Given the description of an element on the screen output the (x, y) to click on. 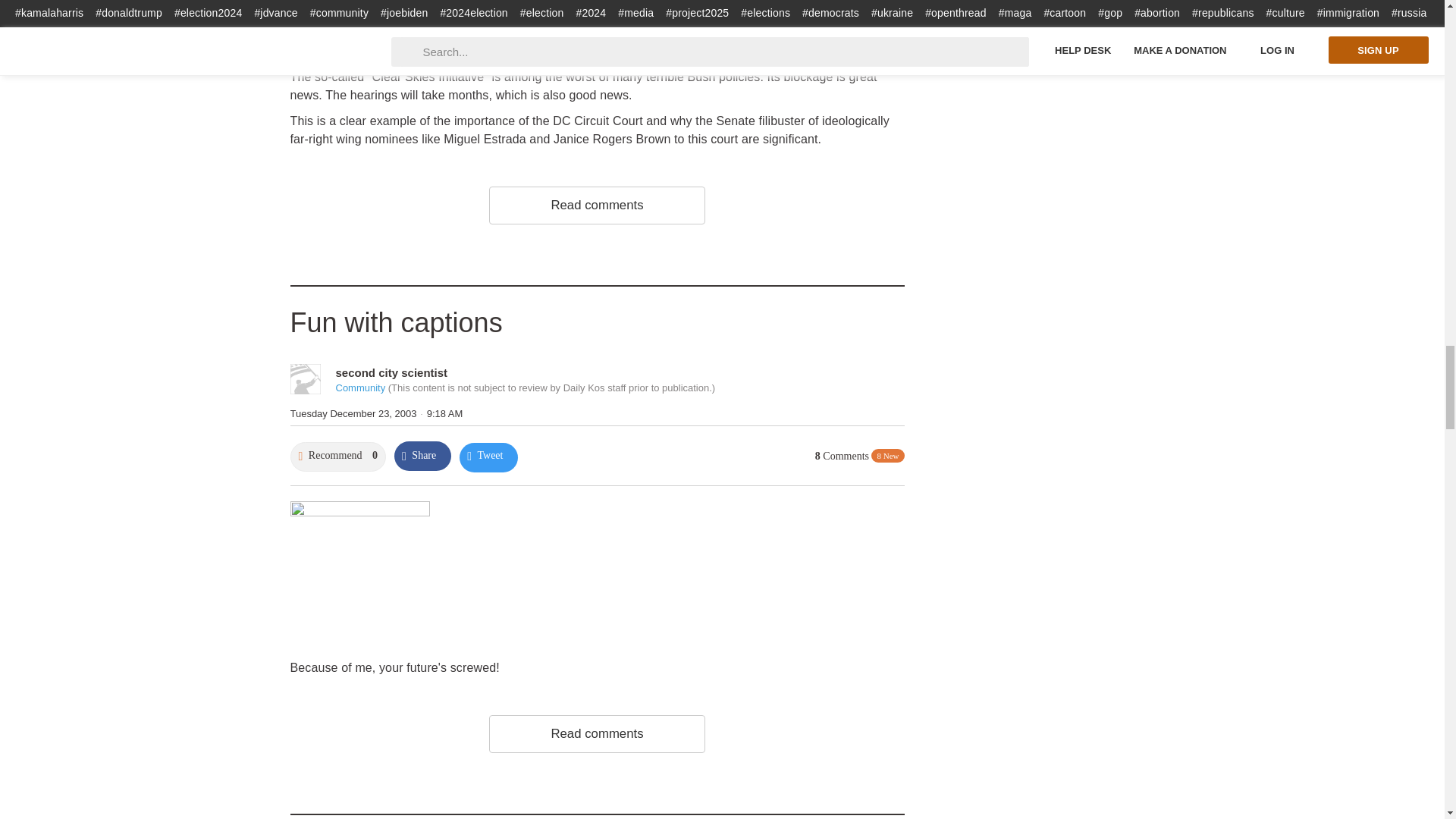
8 Comments 8 New (859, 456)
